Given the description of an element on the screen output the (x, y) to click on. 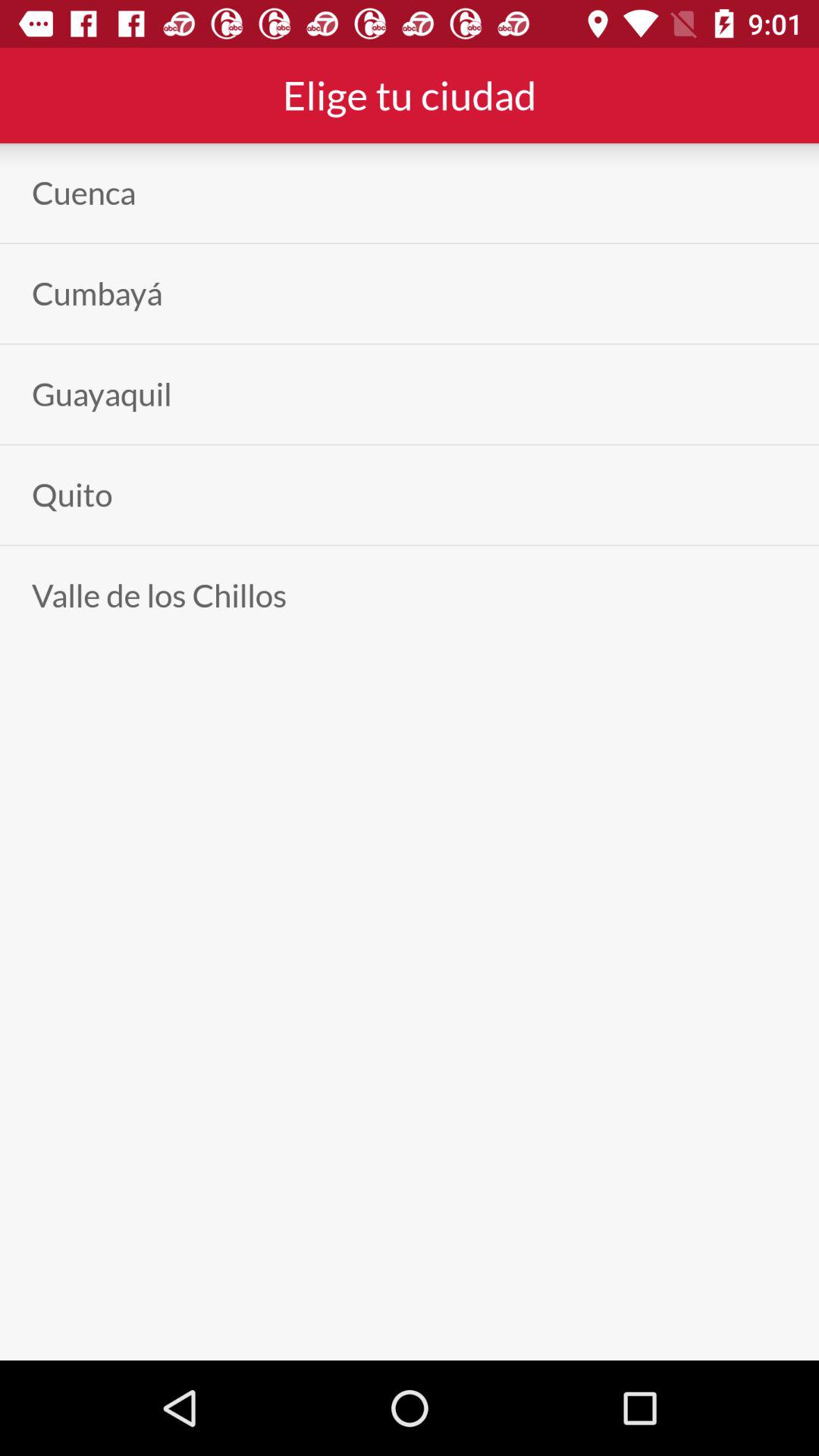
click the item above guayaquil icon (96, 293)
